Given the description of an element on the screen output the (x, y) to click on. 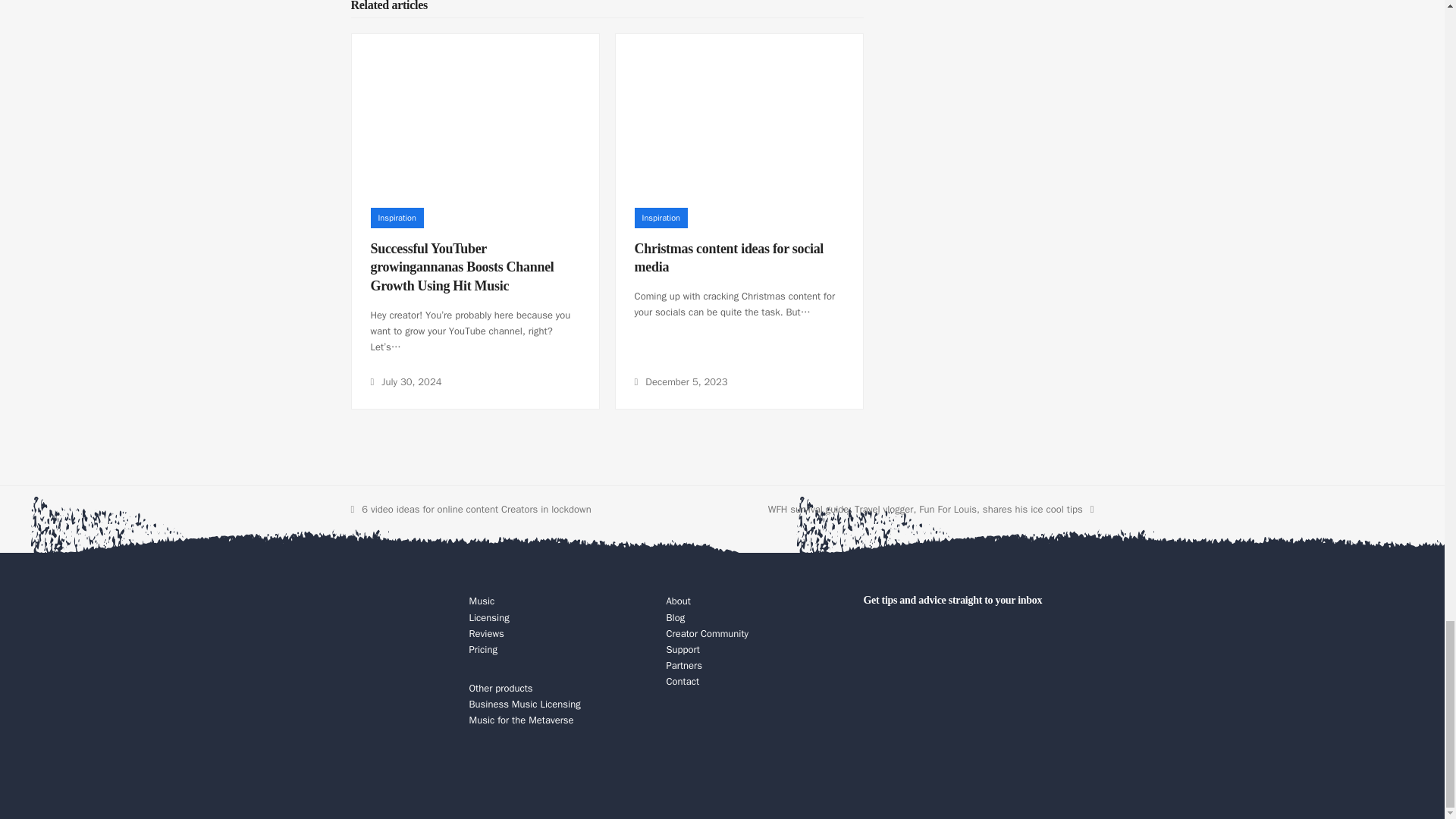
Inspiration (396, 218)
Christmas content ideas for social media (729, 257)
Inspiration (660, 218)
